Given the description of an element on the screen output the (x, y) to click on. 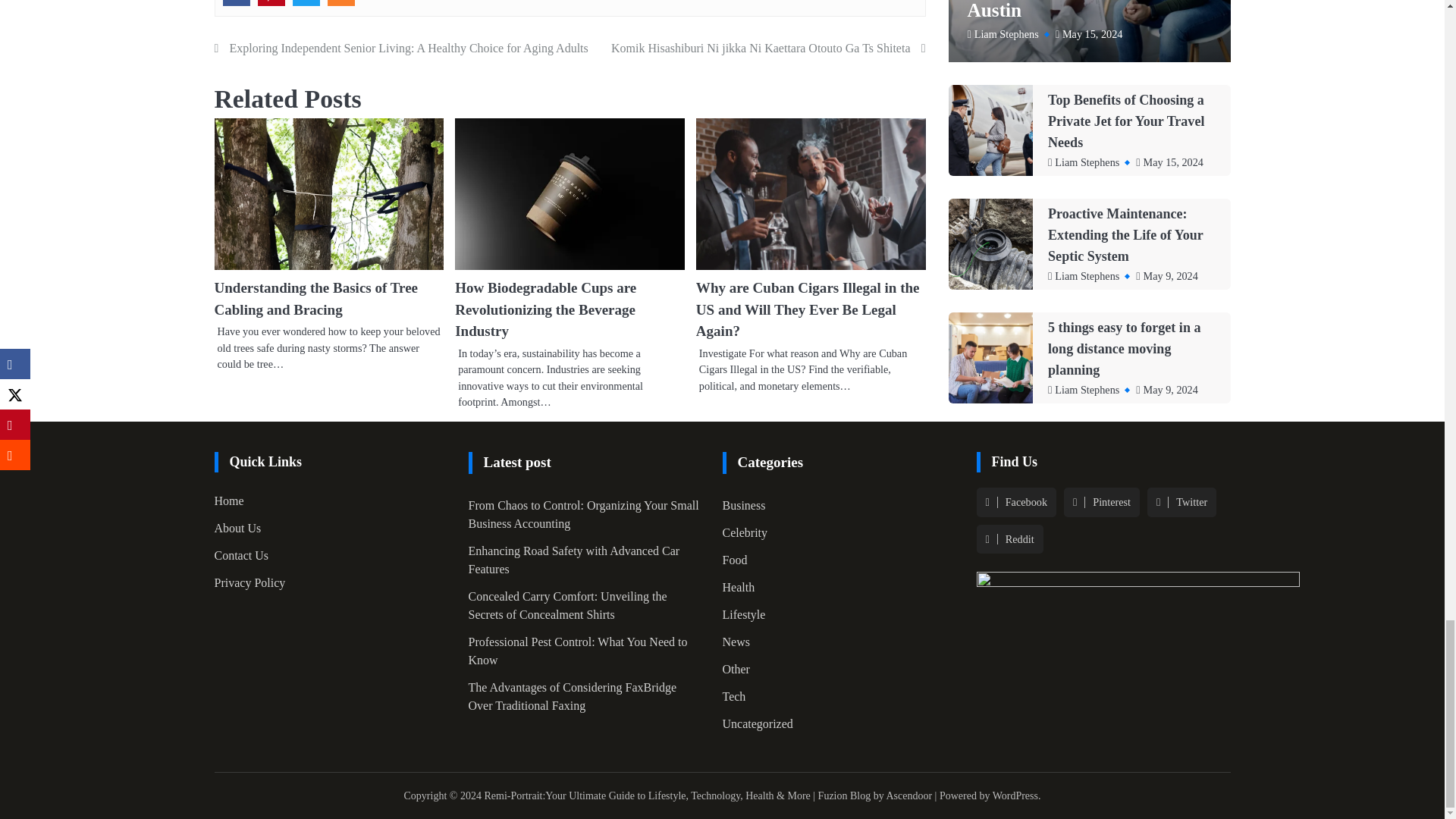
Twitter (306, 2)
Facebook (236, 2)
User email (341, 2)
Pinterest (271, 2)
